Given the description of an element on the screen output the (x, y) to click on. 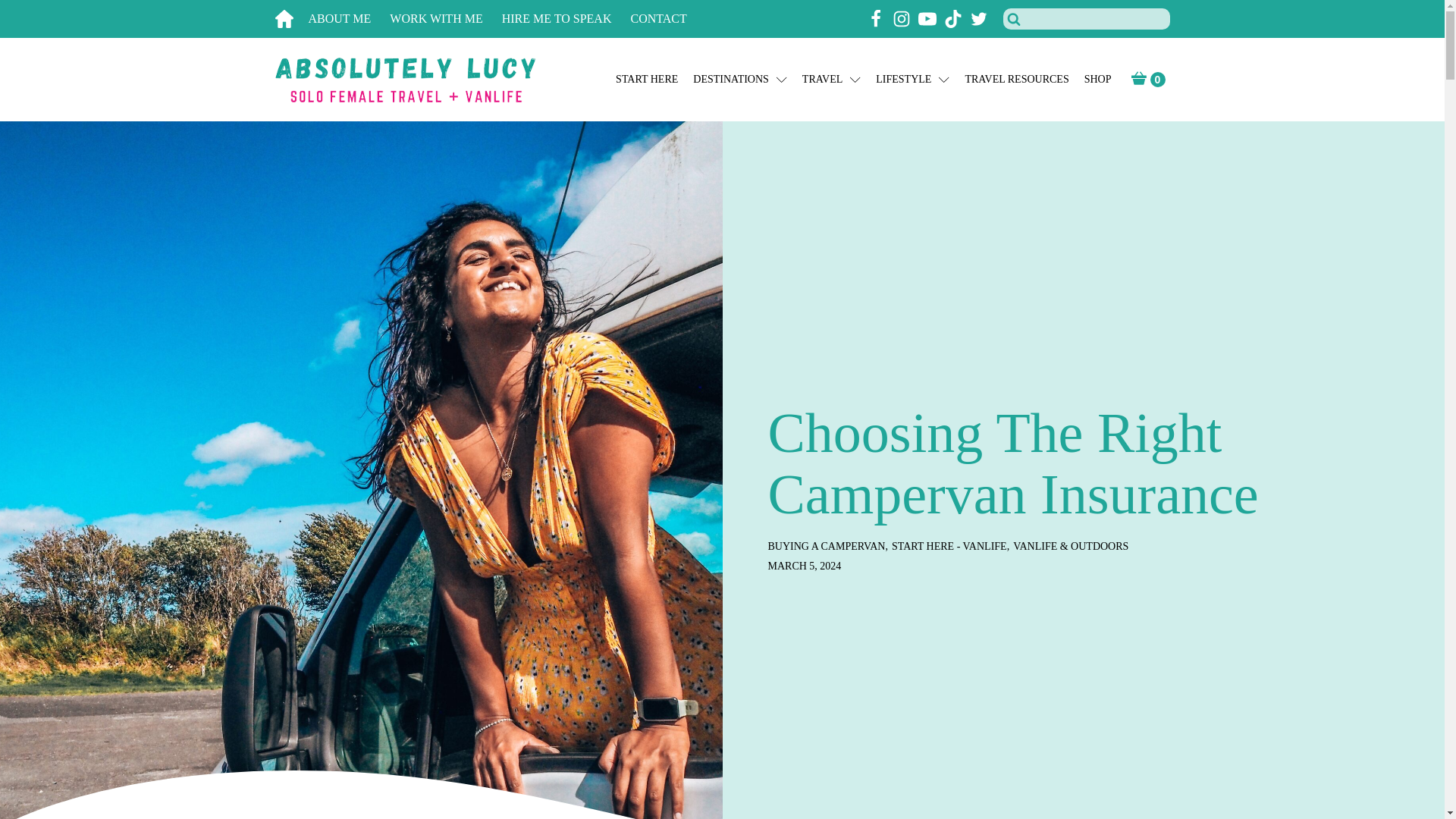
CONTACT (667, 19)
ABOUT ME (348, 19)
DESTINATIONS (740, 79)
TRAVEL (831, 79)
START HERE (646, 79)
SHOP (1098, 79)
TRAVEL RESOURCES (1015, 79)
Search (31, 13)
LIFESTYLE (912, 79)
WORK WITH ME (445, 19)
HIRE ME TO SPEAK (566, 19)
